Given the description of an element on the screen output the (x, y) to click on. 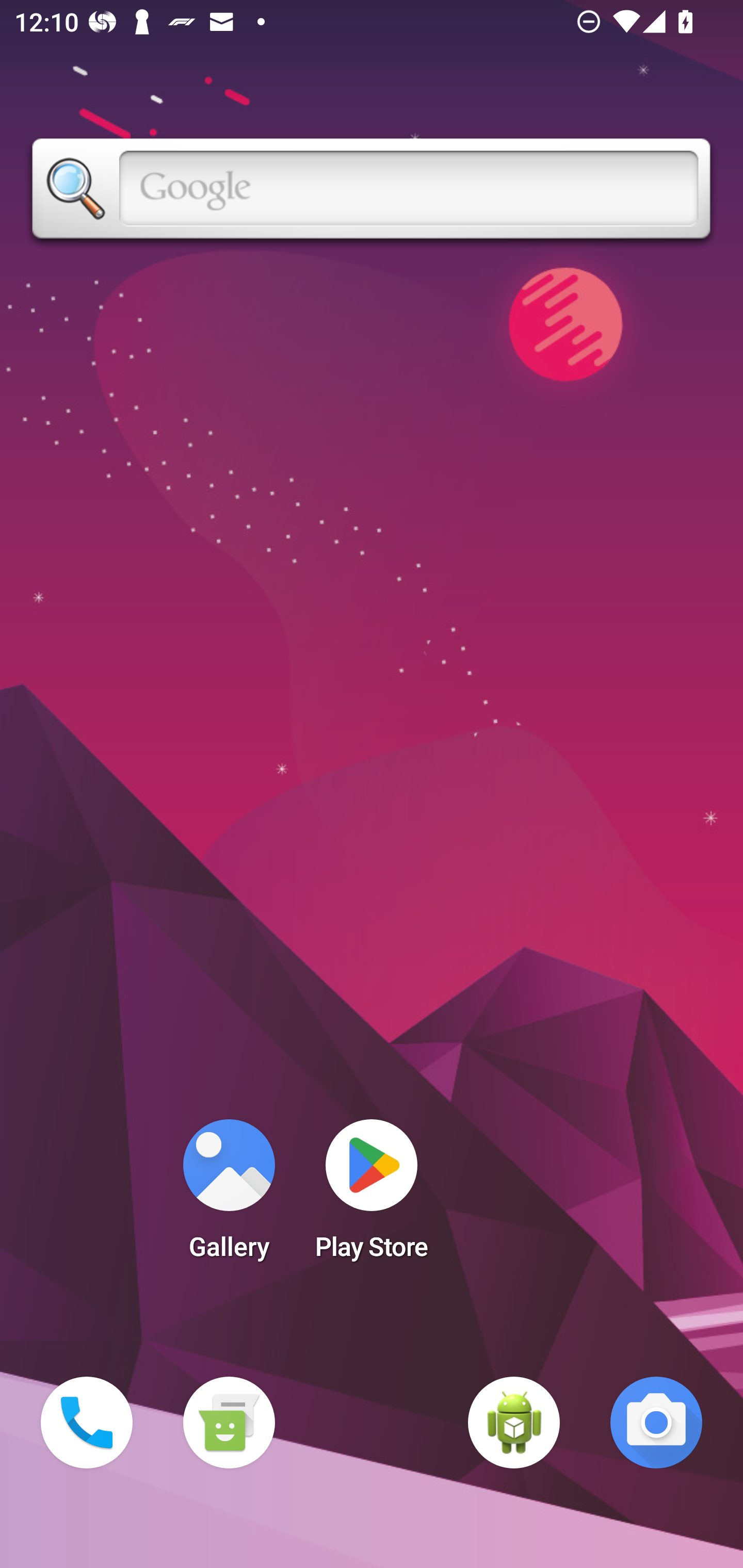
Gallery (228, 1195)
Play Store (371, 1195)
Phone (86, 1422)
Messaging (228, 1422)
WebView Browser Tester (513, 1422)
Camera (656, 1422)
